Given the description of an element on the screen output the (x, y) to click on. 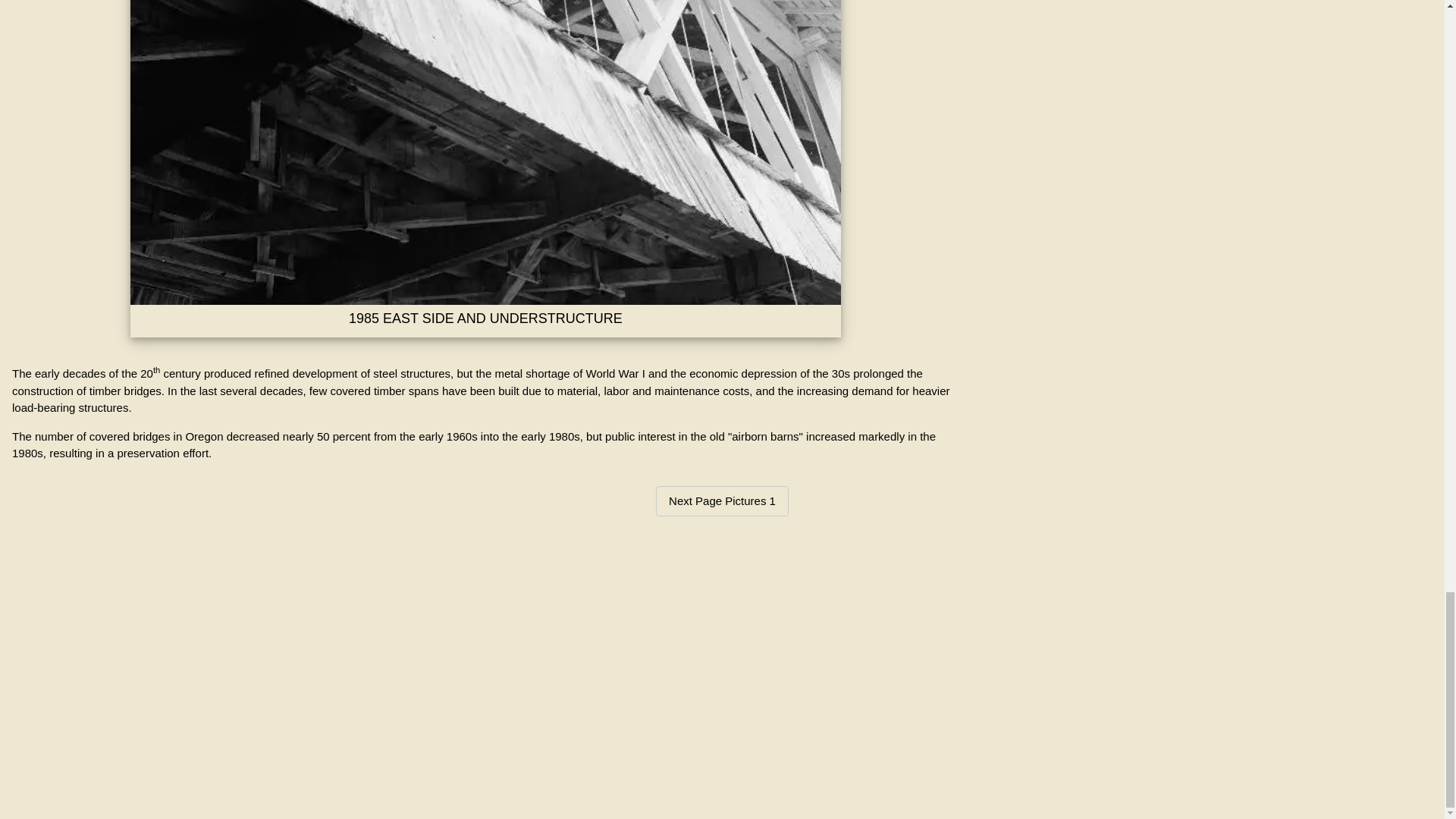
YouTube video player (721, 665)
